Given the description of an element on the screen output the (x, y) to click on. 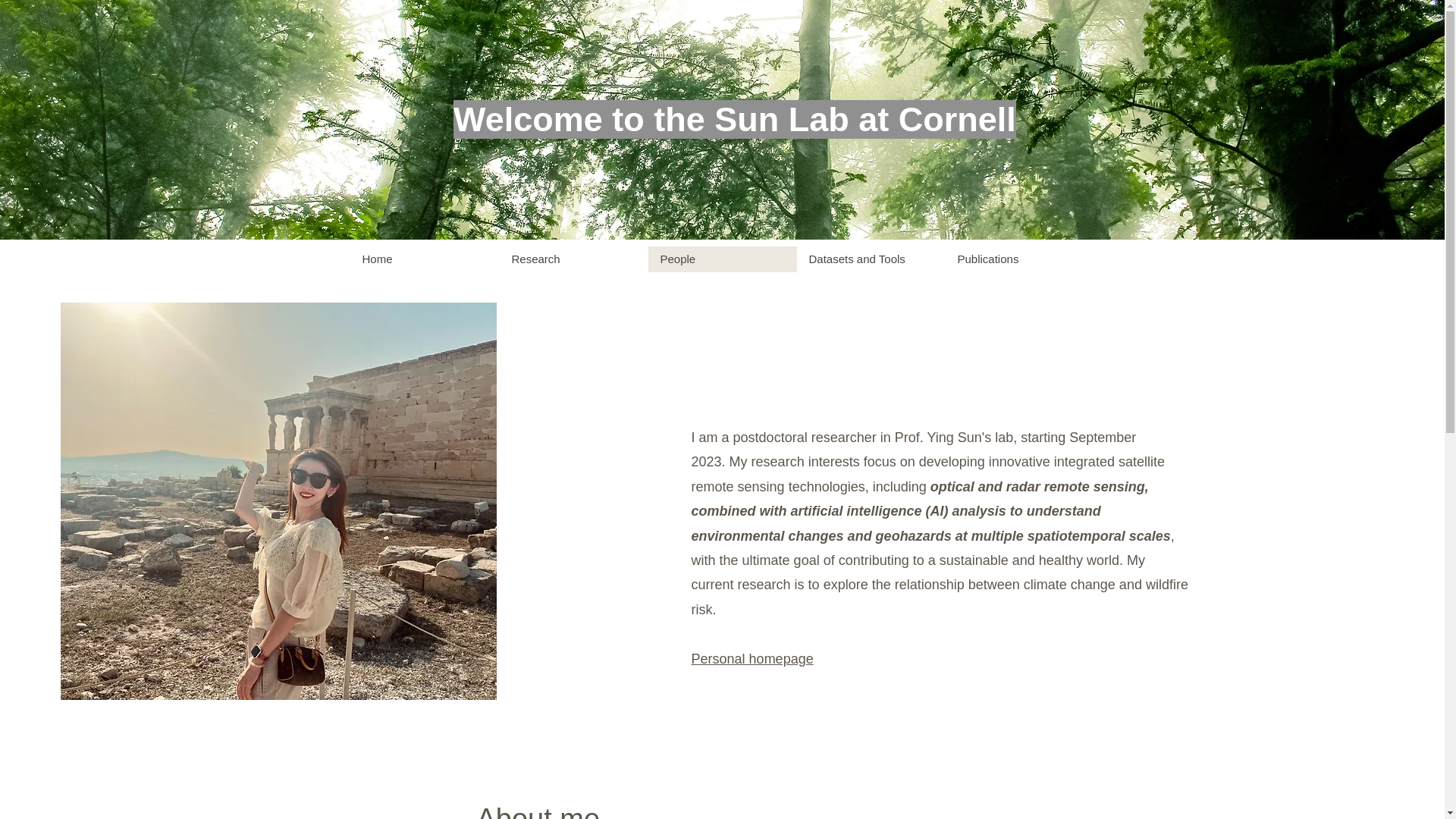
Personal homepage (752, 658)
Datasets and Tools (870, 258)
Publications (1018, 258)
People (721, 258)
Home (424, 258)
 the Sun Lab at Cornell (830, 118)
Welcome to (548, 118)
Research (573, 258)
